Given the description of an element on the screen output the (x, y) to click on. 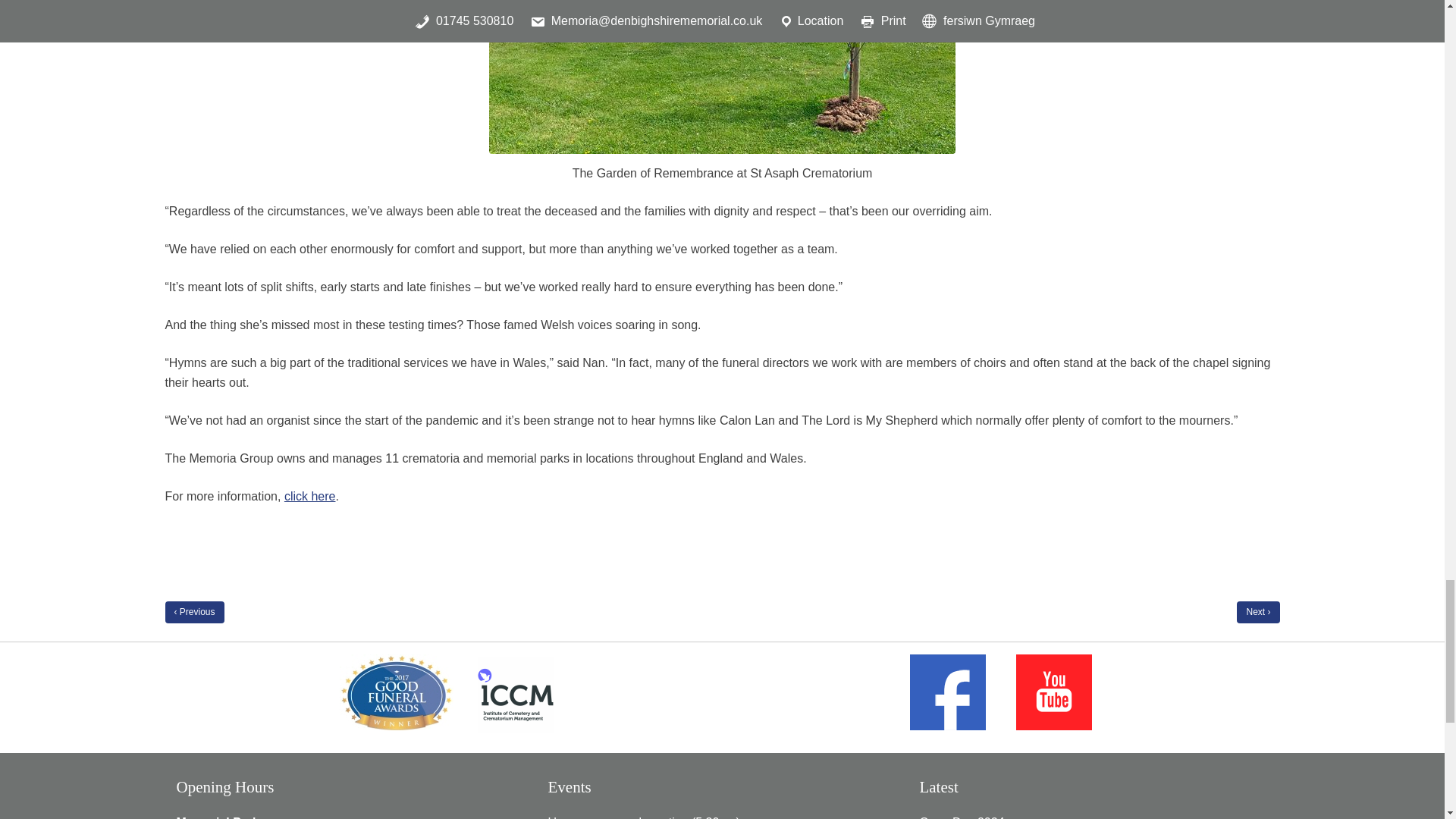
meet us on facebook (947, 692)
